Given the description of an element on the screen output the (x, y) to click on. 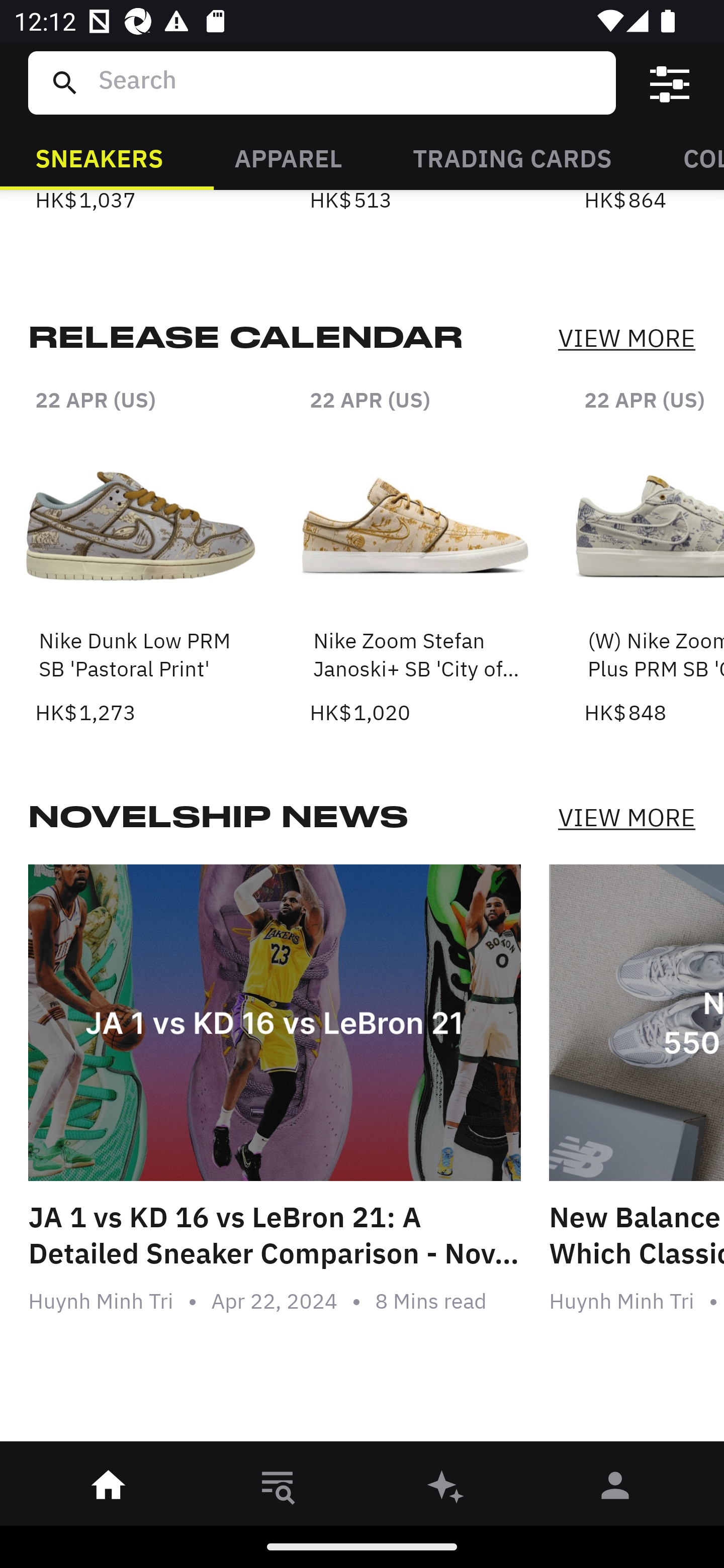
Search (349, 82)
 (669, 82)
SNEAKERS (99, 156)
APPAREL (287, 156)
TRADING CARDS (512, 156)
VIEW MORE (626, 338)
VIEW MORE (626, 816)
󰋜 (108, 1488)
󱎸 (277, 1488)
󰫢 (446, 1488)
󰀄 (615, 1488)
